Given the description of an element on the screen output the (x, y) to click on. 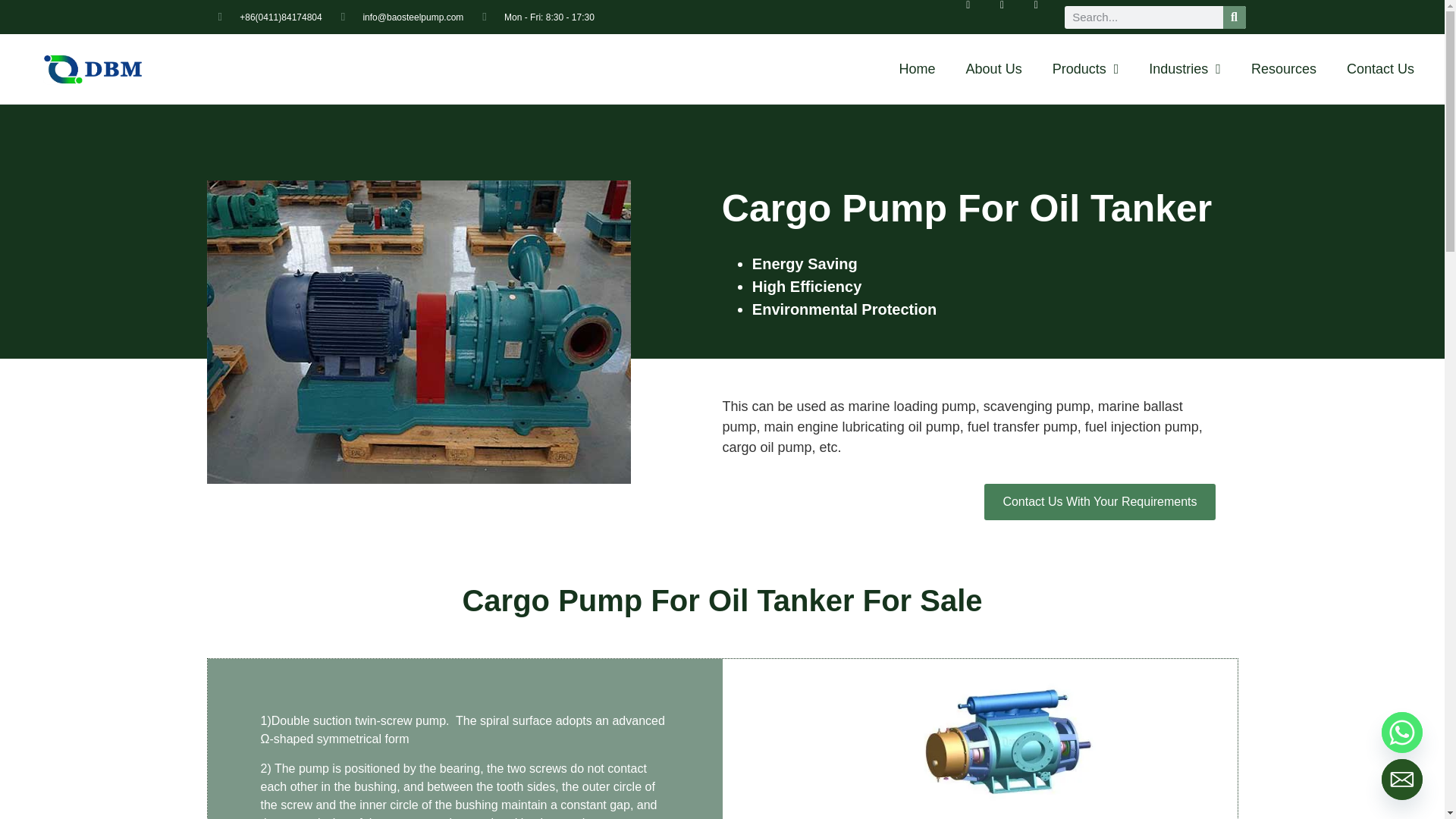
Home (916, 69)
Products (1085, 69)
Industries (1185, 69)
About Us (993, 69)
